Given the description of an element on the screen output the (x, y) to click on. 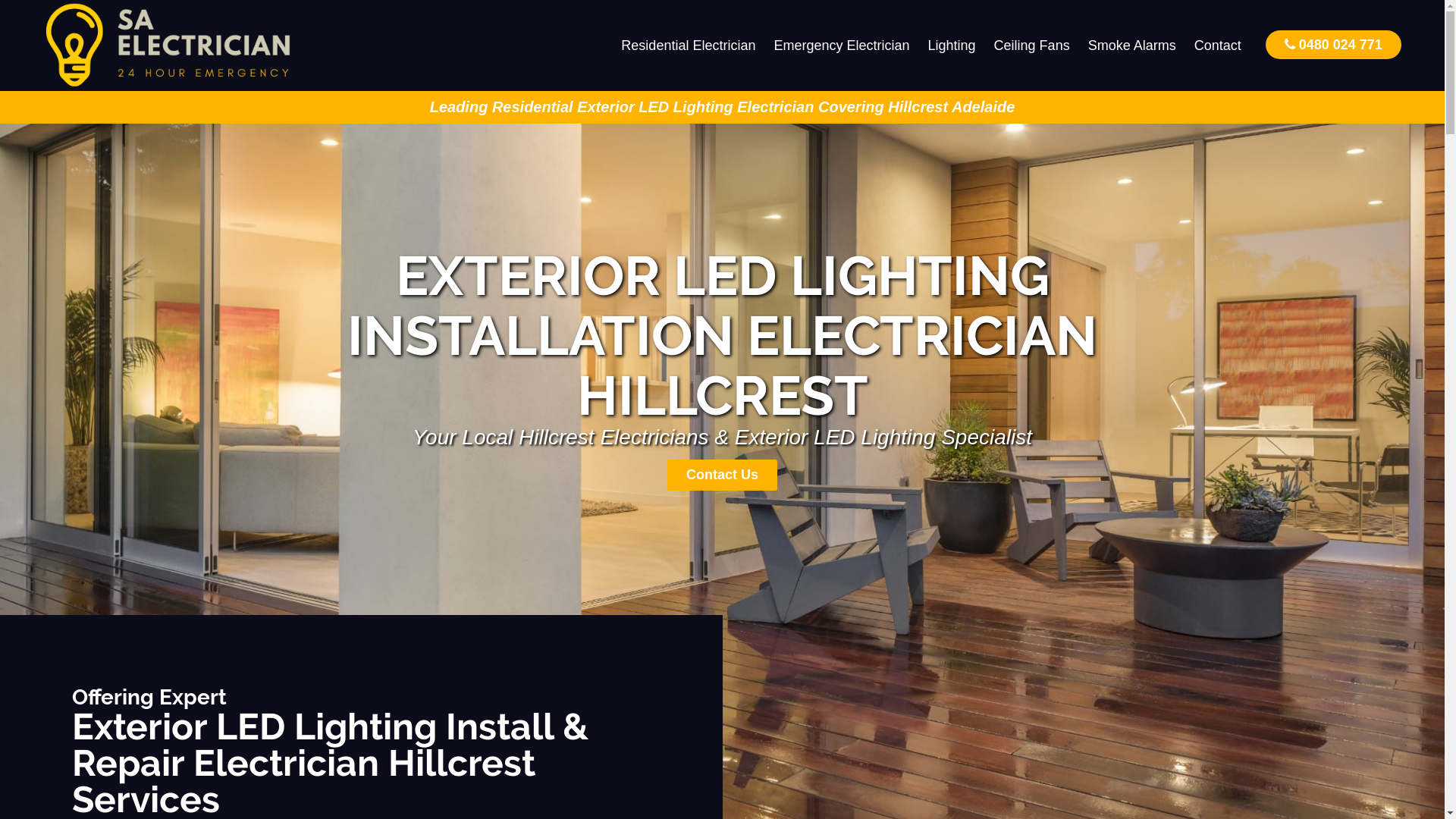
Ceiling Fans Element type: text (1032, 45)
0480 024 771 Element type: text (1333, 44)
Contact Element type: text (1217, 45)
Lighting Element type: text (952, 45)
Residential Electrician Element type: text (687, 45)
Contact Us Element type: text (722, 474)
Smoke Alarms Element type: text (1132, 45)
Emergency Electrician Element type: text (841, 45)
